Given the description of an element on the screen output the (x, y) to click on. 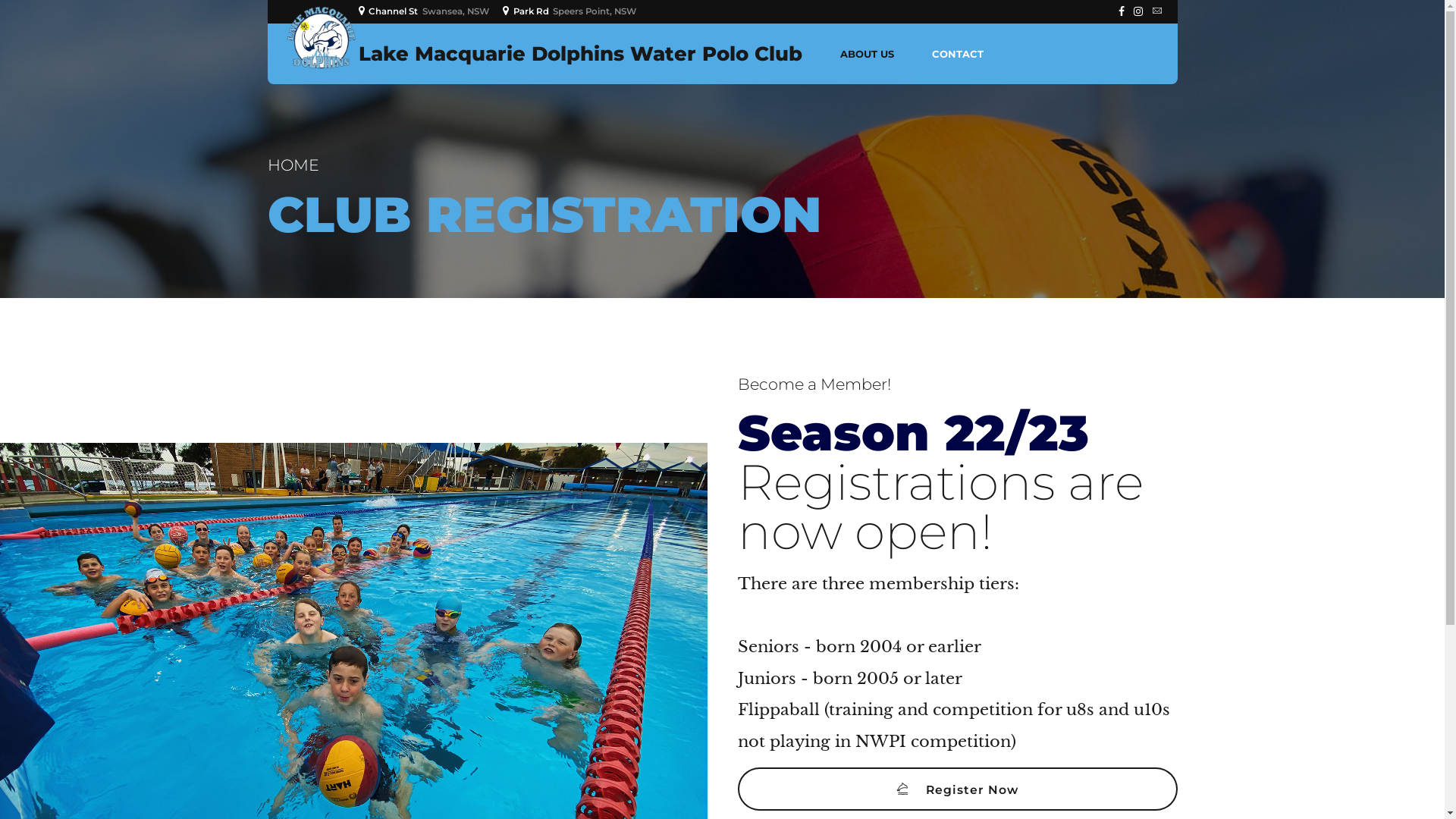
Channel StSwansea, NSW Element type: text (425, 11)
Park RdSpeers Point, NSW Element type: text (571, 11)
HOME Element type: text (292, 164)
Lake Macquarie Dolphins Water Polo Club Element type: text (579, 53)
ABOUT US Element type: text (867, 53)
Register Now Element type: text (956, 788)
CONTACT Element type: text (956, 53)
